Given the description of an element on the screen output the (x, y) to click on. 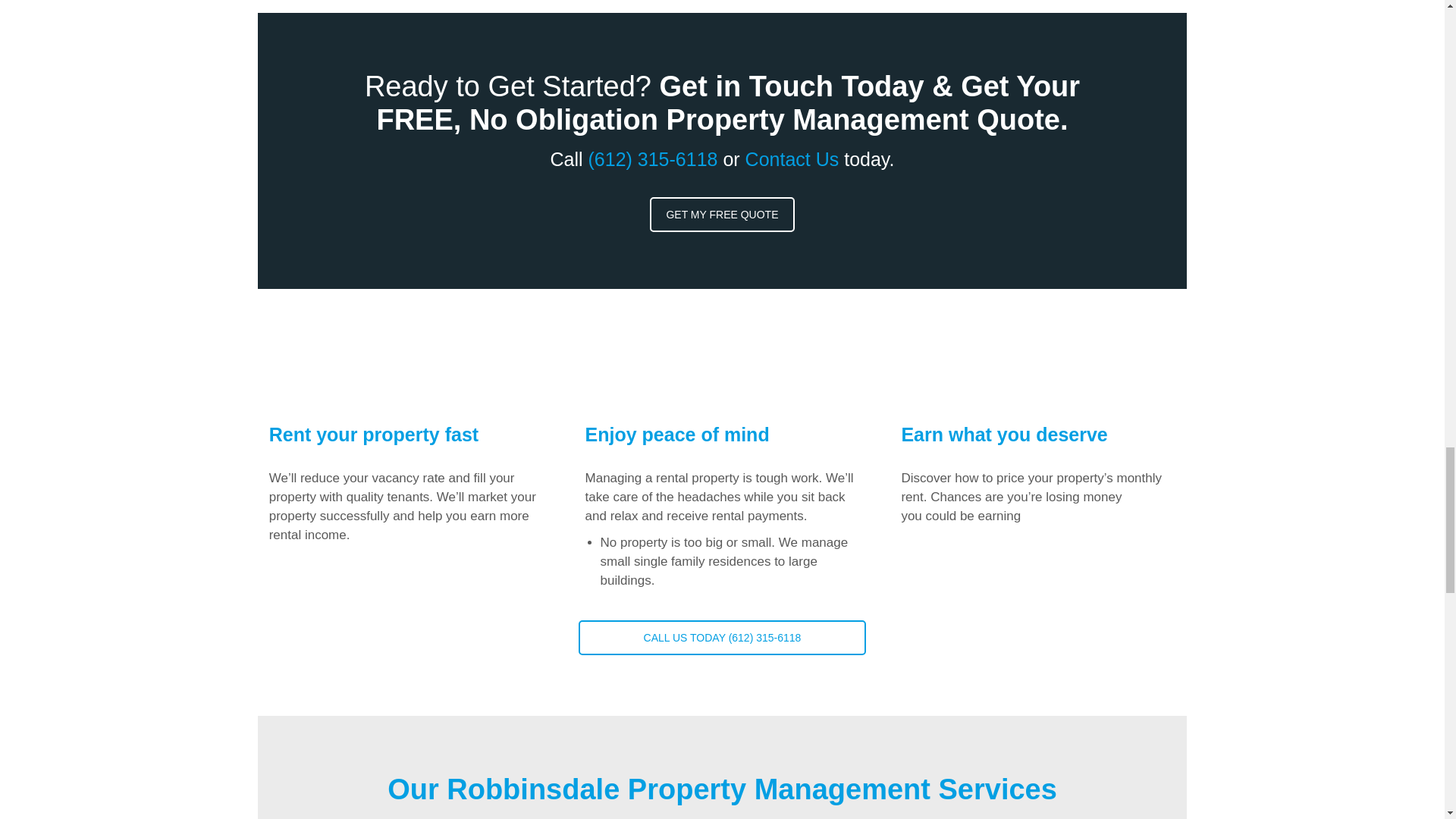
sep (604, 454)
Contact Us (792, 158)
sep (287, 454)
GET MY FREE QUOTE (721, 214)
GET MY FREE QUOTE (721, 214)
Contact Us (792, 158)
